Given the description of an element on the screen output the (x, y) to click on. 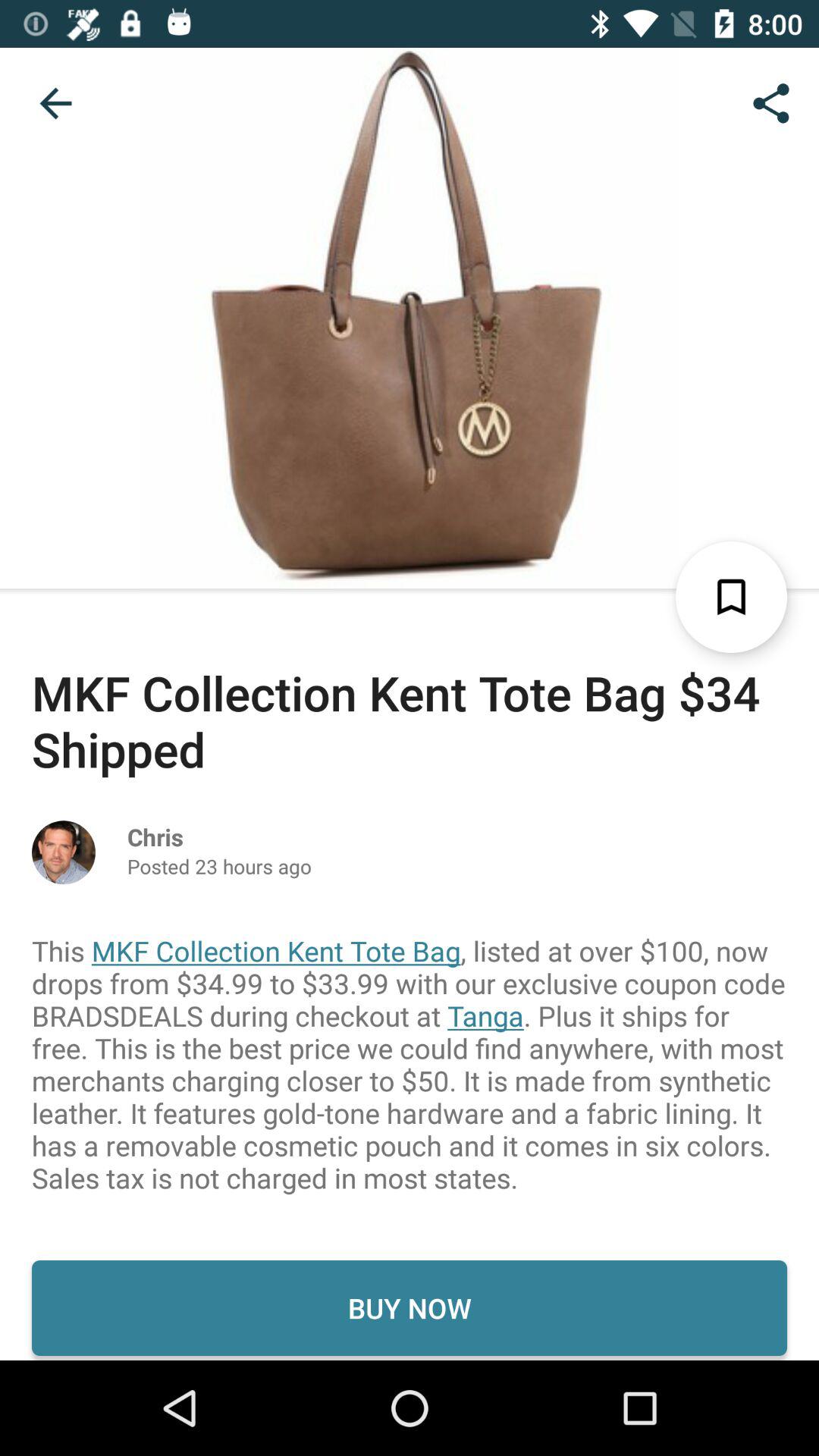
select buy now (409, 1307)
